Given the description of an element on the screen output the (x, y) to click on. 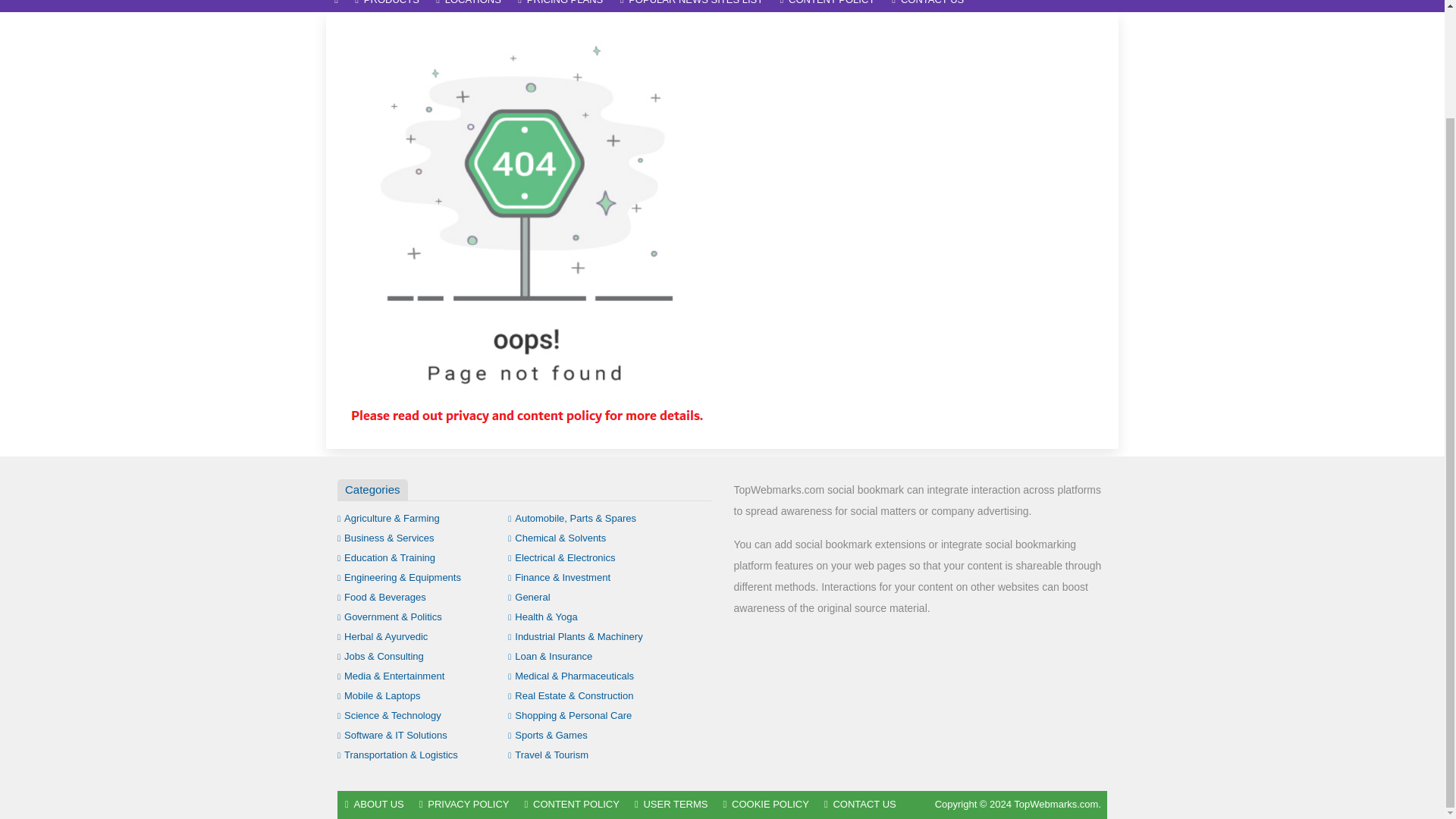
POPULAR NEWS SITES LIST (691, 6)
PRODUCTS (387, 6)
PRICING PLANS (560, 6)
CONTACT US (927, 6)
General (529, 596)
CONTENT POLICY (827, 6)
LOCATIONS (468, 6)
HOME (336, 6)
